Given the description of an element on the screen output the (x, y) to click on. 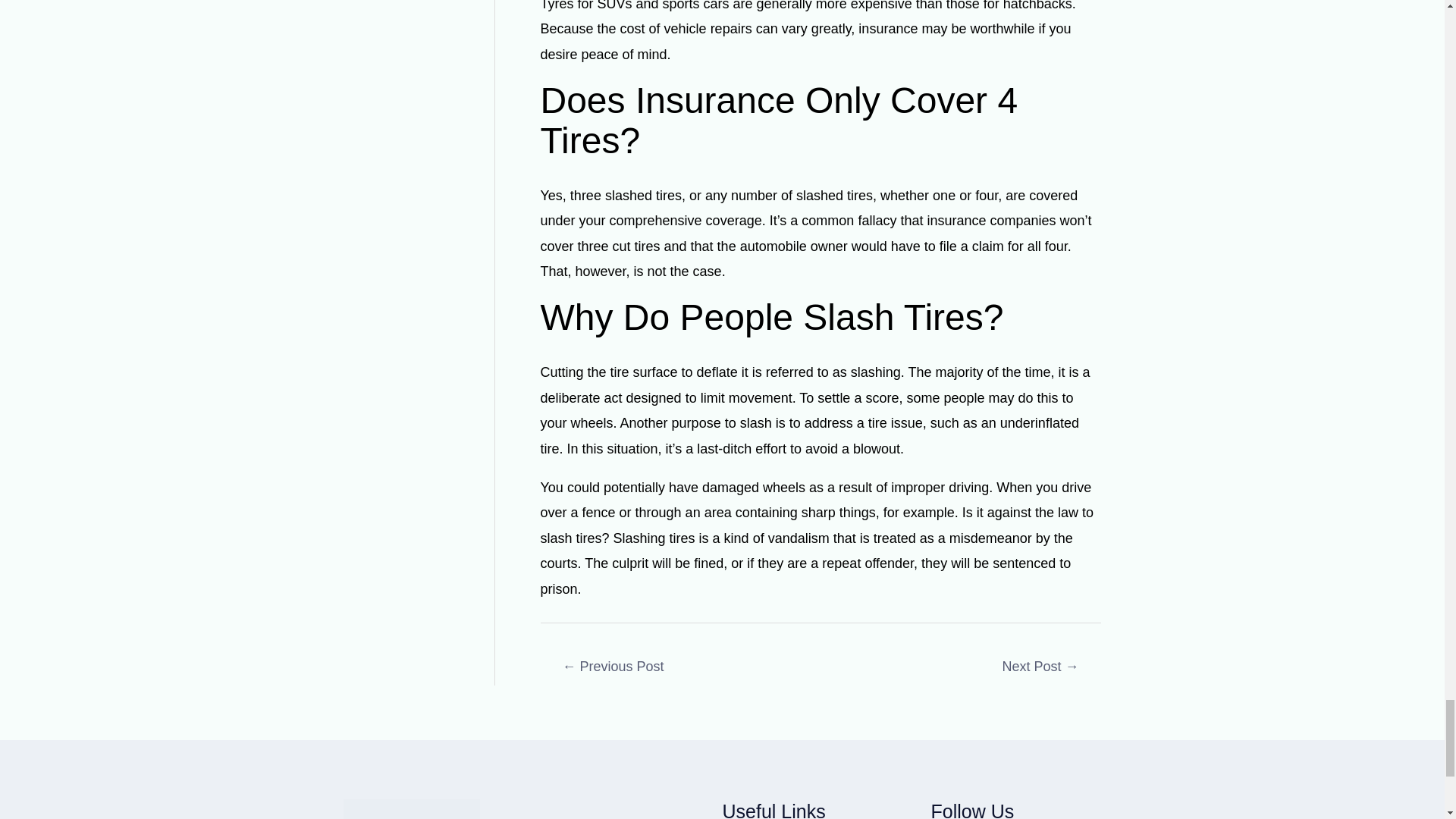
Do I Need Insurance To Sell Cakes From Home? (1040, 667)
What Does Edgars Dental Insurance Cover? (612, 667)
